Given the description of an element on the screen output the (x, y) to click on. 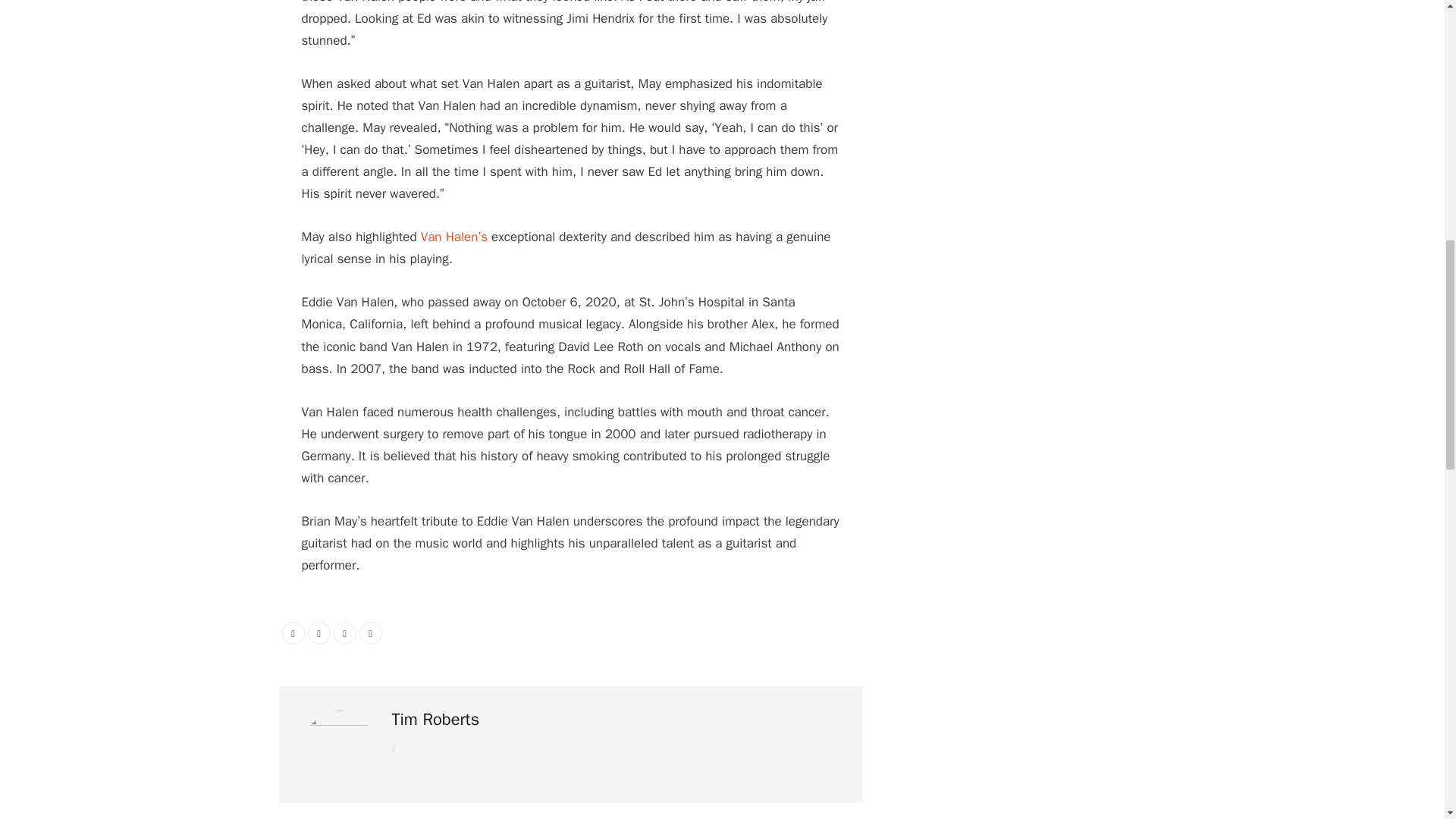
Share on Facebook (293, 632)
Share on Twitter (318, 632)
Tim Roberts (435, 720)
Pinterest (344, 632)
Email (370, 632)
